Given the description of an element on the screen output the (x, y) to click on. 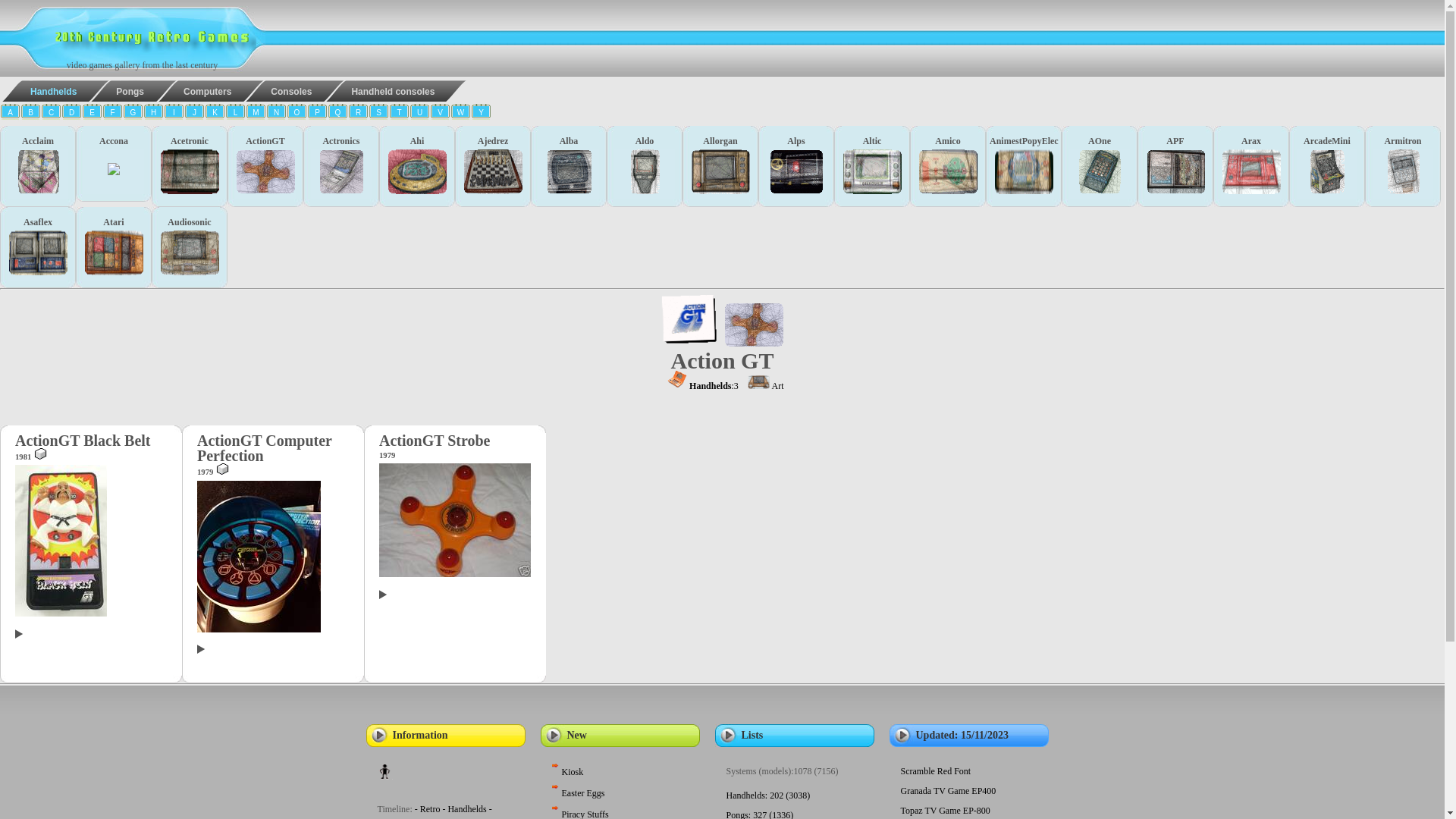
P Element type: text (316, 113)
Pongs Element type: text (119, 90)
Easter Eggs Element type: text (578, 792)
Topaz TV Game EP-800 Element type: text (945, 810)
H Element type: text (153, 113)
K Element type: text (214, 113)
Computers Element type: text (196, 90)
D Element type: text (71, 113)
Handhelds:3 Element type: text (713, 385)
M Element type: text (255, 113)
E Element type: text (91, 113)
U Element type: text (419, 113)
Handhelds Element type: text (42, 90)
A Element type: text (9, 113)
- Handhelds Element type: text (464, 808)
Handhelds: 202 (3038) Element type: text (768, 795)
Q Element type: text (337, 113)
R Element type: text (357, 113)
Consoles Element type: text (280, 90)
F Element type: text (112, 113)
Kiosk Element type: text (567, 771)
B Element type: text (30, 113)
Granada TV Game EP400 Element type: text (948, 790)
C Element type: text (50, 113)
W Element type: text (460, 113)
O Element type: text (296, 113)
J Element type: text (194, 113)
- Retro Element type: text (427, 808)
Scramble Red Font Element type: text (935, 770)
Y Element type: text (480, 113)
Handheld consoles Element type: text (381, 90)
I Element type: text (173, 113)
S Element type: text (378, 113)
Art Element type: text (765, 385)
T Element type: text (398, 113)
G Element type: text (132, 113)
V Element type: text (439, 113)
N Element type: text (275, 113)
L Element type: text (234, 113)
